Given the description of an element on the screen output the (x, y) to click on. 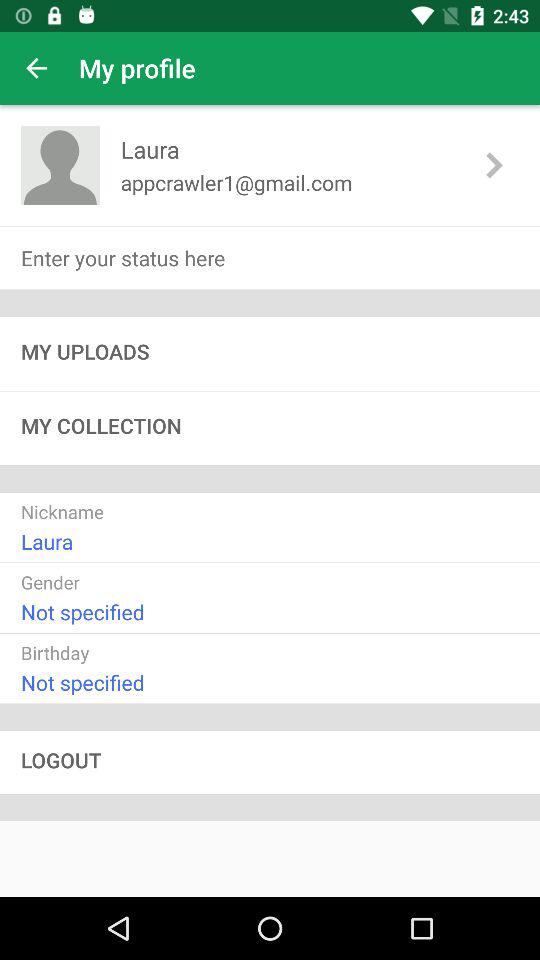
turn off the my collection item (270, 428)
